Given the description of an element on the screen output the (x, y) to click on. 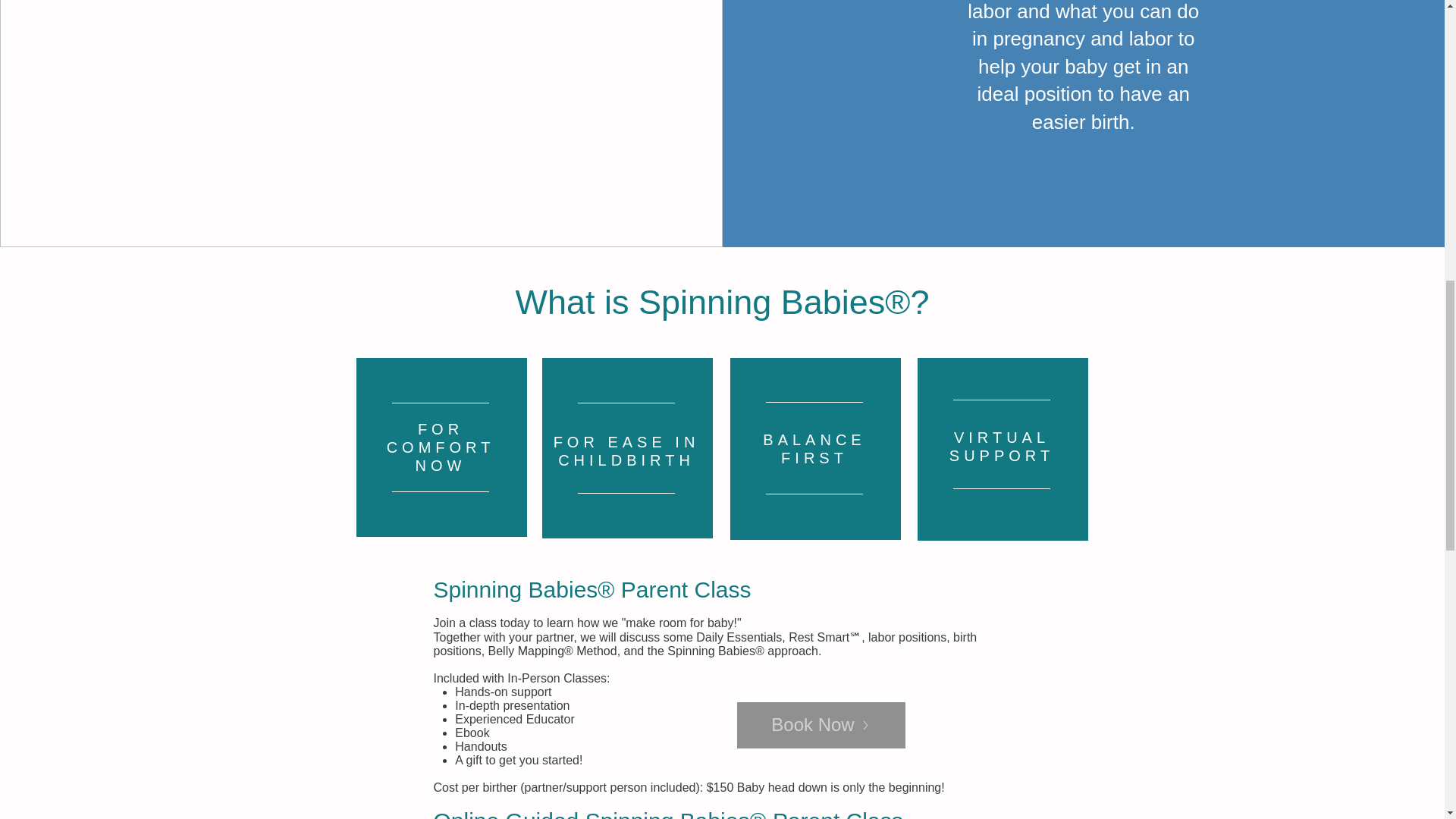
Book Now (820, 724)
